Given the description of an element on the screen output the (x, y) to click on. 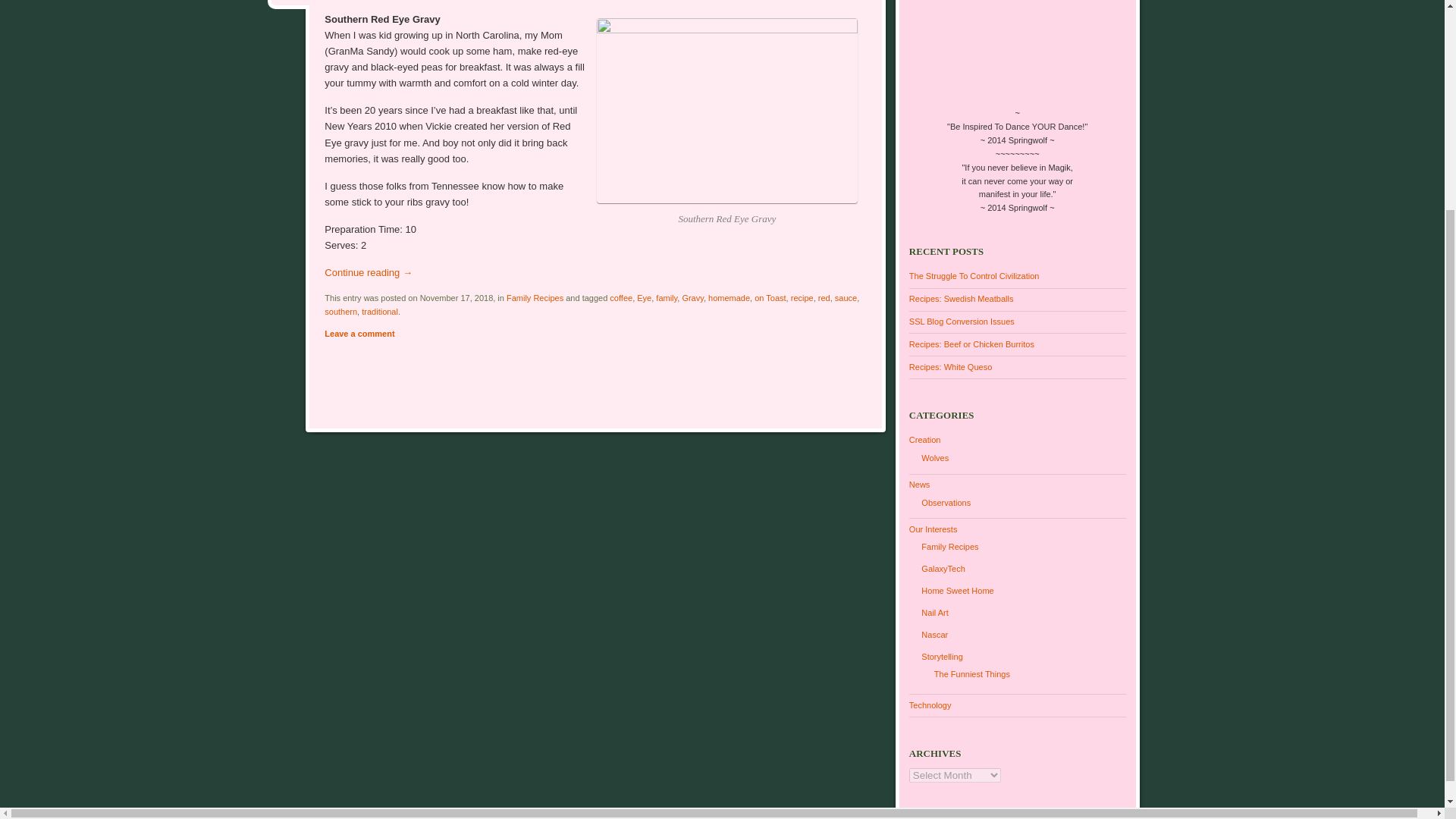
recipe (801, 297)
traditional (379, 311)
family (666, 297)
coffee (620, 297)
southern (340, 311)
Recipes: Beef or Chicken Burritos (970, 343)
Family Recipes (534, 297)
Leave a comment (359, 333)
The Struggle To Control Civilization (973, 275)
Gravy (692, 297)
sauce (845, 297)
Eye (643, 297)
Recipes: Swedish Meatballs (960, 298)
homemade (728, 297)
on Toast (770, 297)
